Given the description of an element on the screen output the (x, y) to click on. 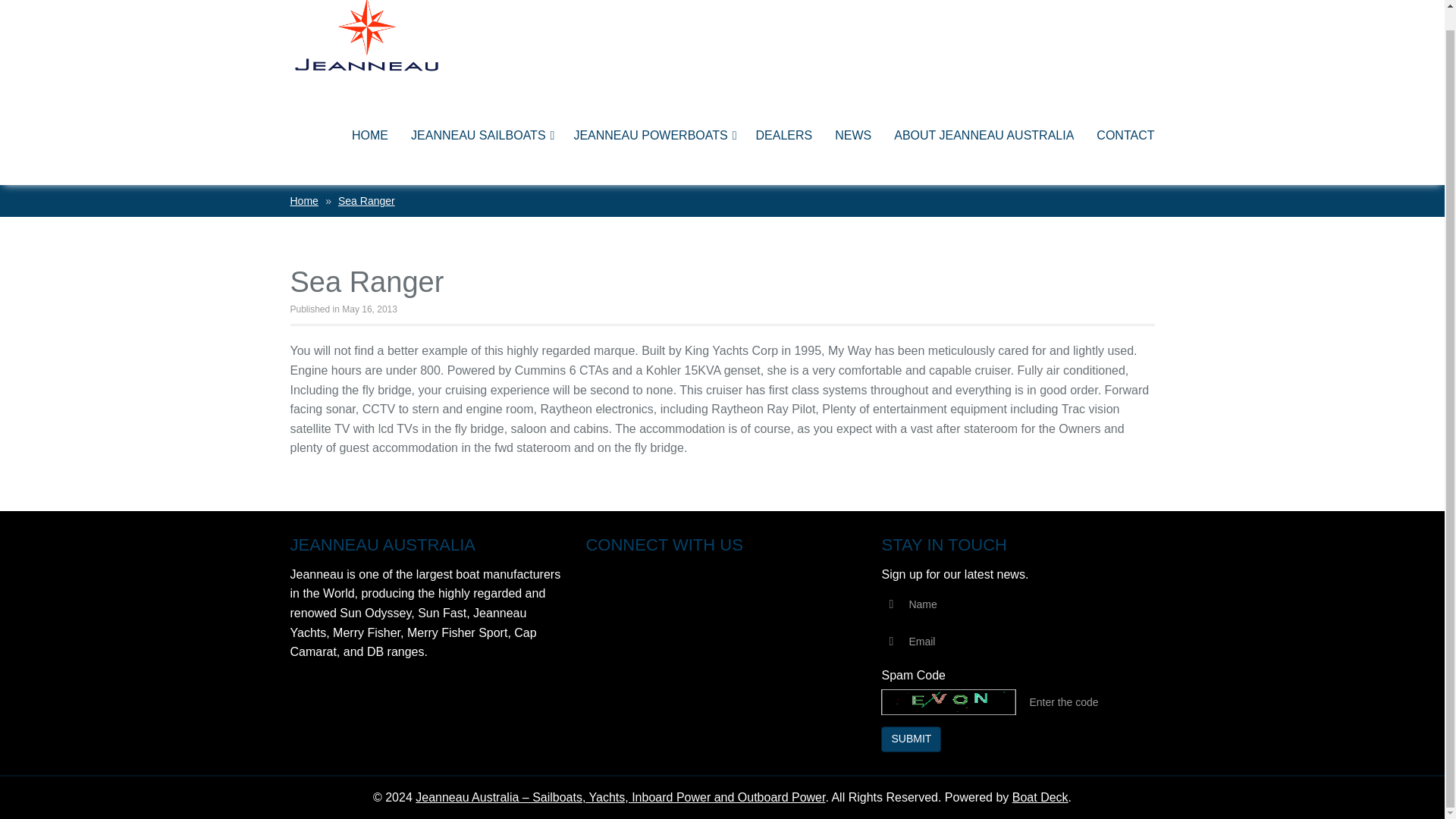
ABOUT JEANNEAU AUSTRALIA (983, 135)
Boat Deck (1039, 797)
Sea Ranger (365, 200)
SUBMIT (910, 739)
Home (303, 200)
JEANNEAU SAILBOATS (473, 135)
JEANNEAU POWERBOATS (645, 135)
